Given the description of an element on the screen output the (x, y) to click on. 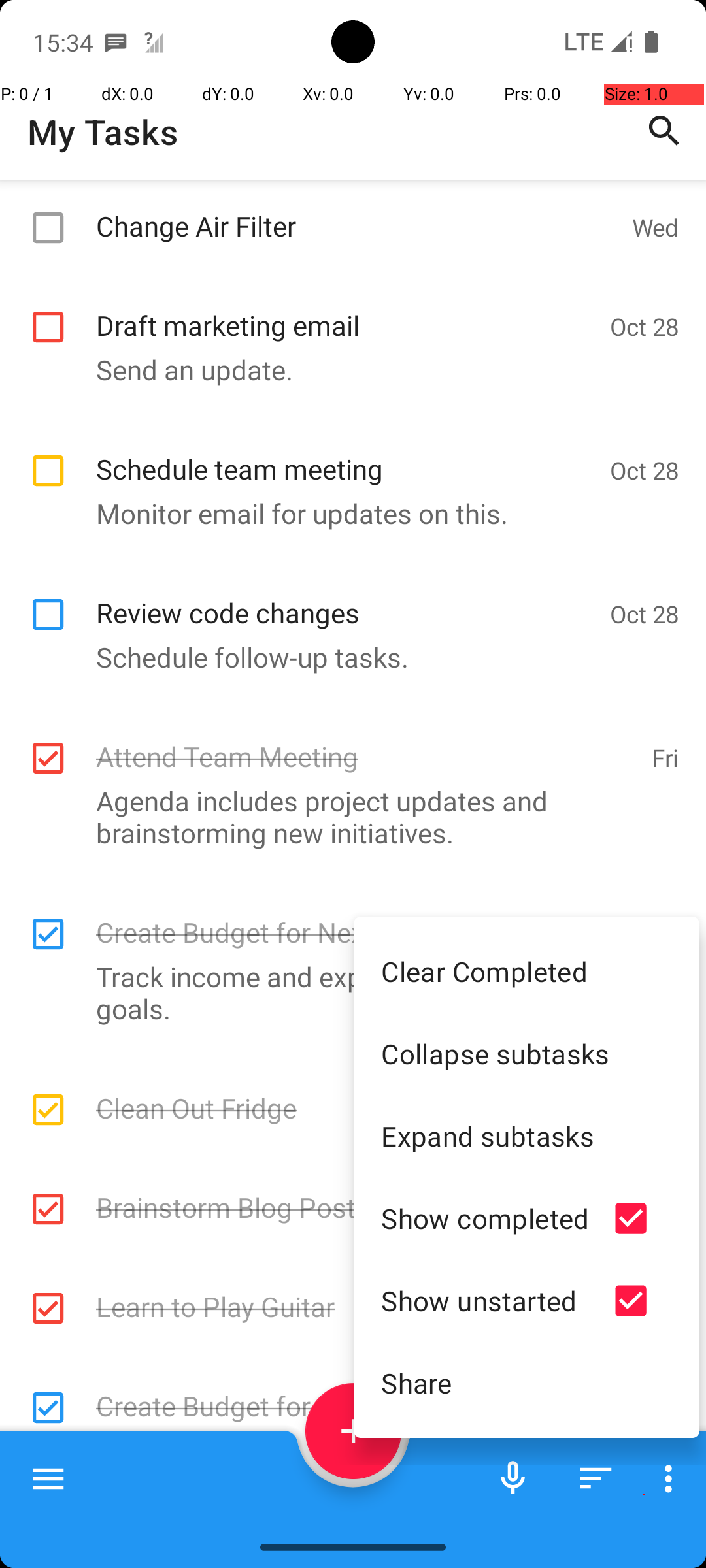
Clear Completed Element type: android.widget.TextView (526, 970)
Collapse subtasks Element type: android.widget.TextView (526, 1053)
Expand subtasks Element type: android.widget.TextView (526, 1135)
Show completed Element type: android.widget.TextView (485, 1217)
Show unstarted Element type: android.widget.TextView (485, 1300)
